Given the description of an element on the screen output the (x, y) to click on. 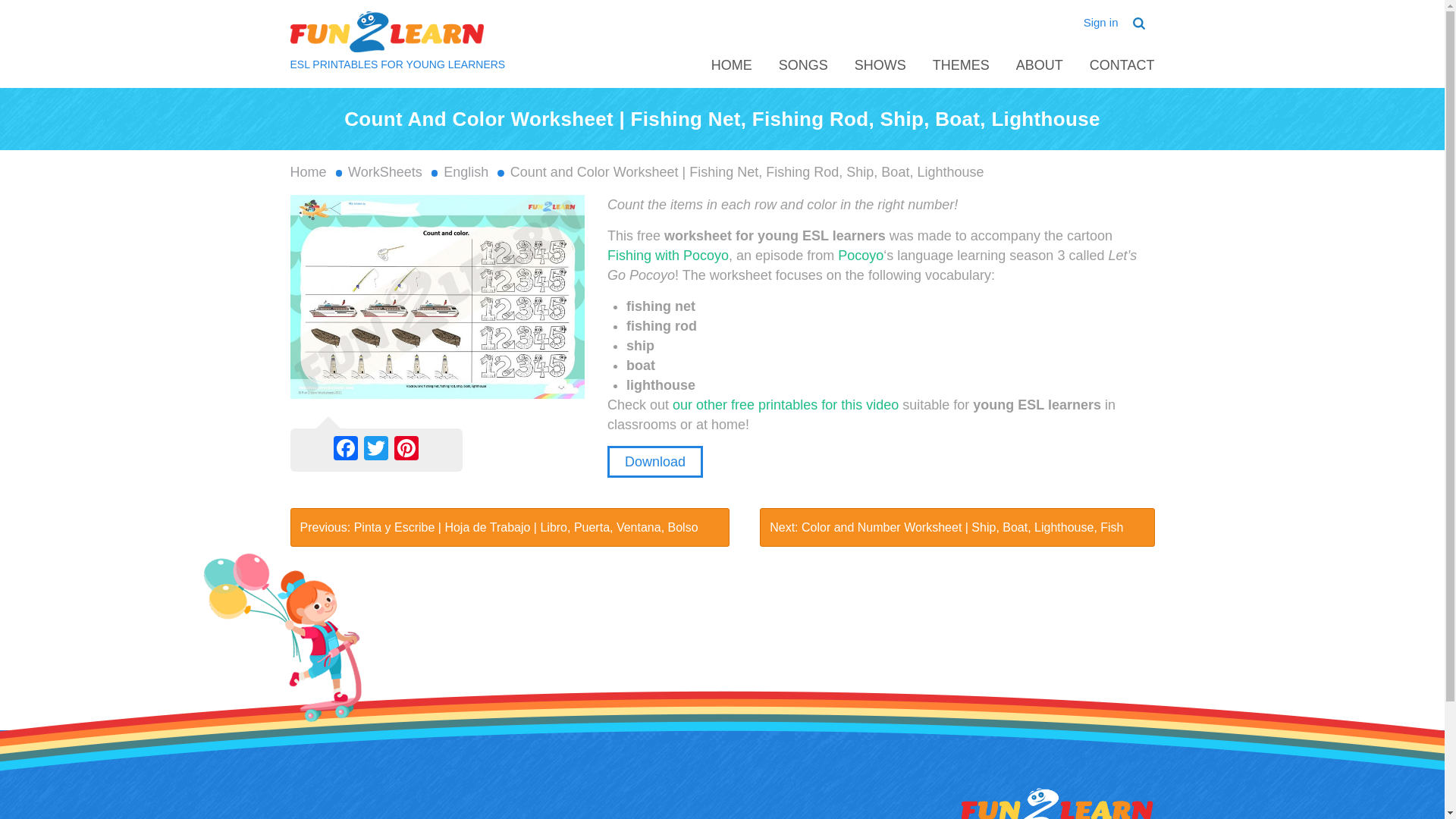
ABOUT (1039, 65)
Fishing with Pocoyo (668, 255)
SHOWS (879, 65)
Search (21, 7)
Pinterest (406, 448)
Download (655, 461)
Sign in (1101, 21)
Facebook (345, 448)
Download (655, 461)
Facebook (345, 448)
